Given the description of an element on the screen output the (x, y) to click on. 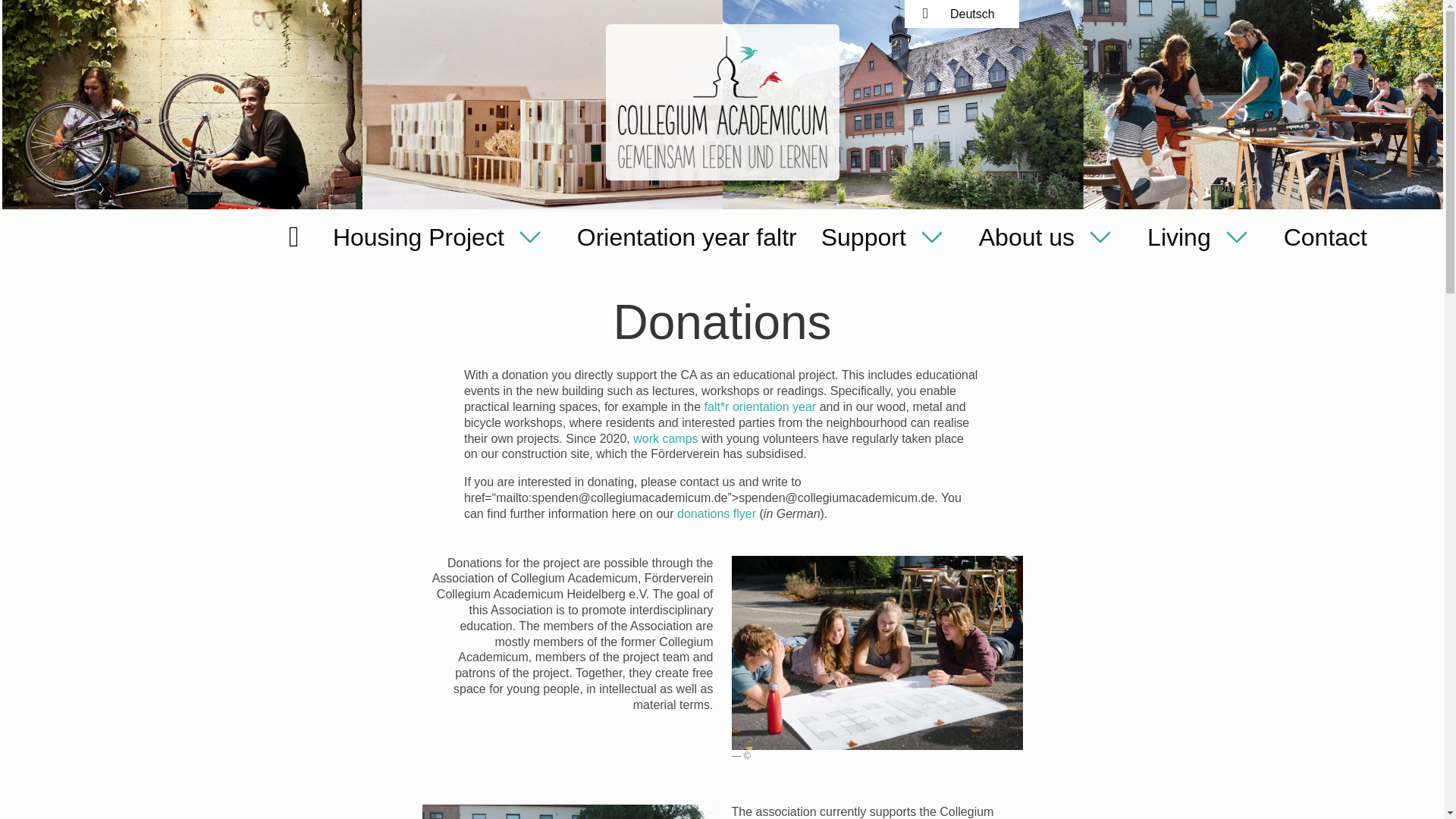
Orientation year faltr (686, 234)
Housing Project (442, 234)
Contact (1324, 234)
work camps (665, 438)
Living (1203, 234)
donations flyer (716, 513)
Support (887, 234)
About us (1050, 234)
Deutsch (972, 10)
